Given the description of an element on the screen output the (x, y) to click on. 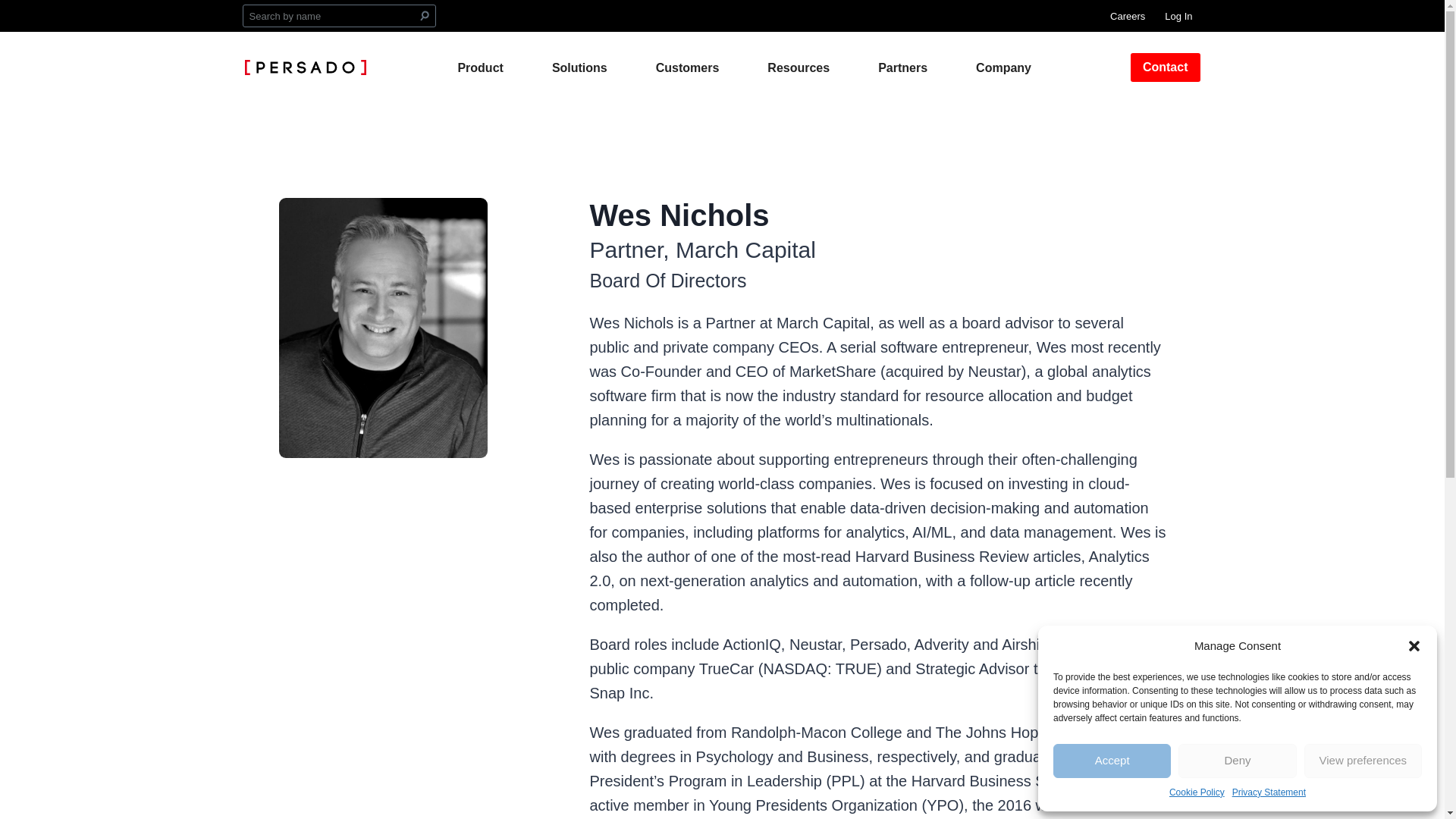
Product (479, 67)
Cookie Policy (1196, 792)
Privacy Statement (1268, 792)
Careers (1127, 15)
View preferences (1363, 760)
Accept (1111, 760)
Deny (1236, 760)
Log In (1178, 15)
